Given the description of an element on the screen output the (x, y) to click on. 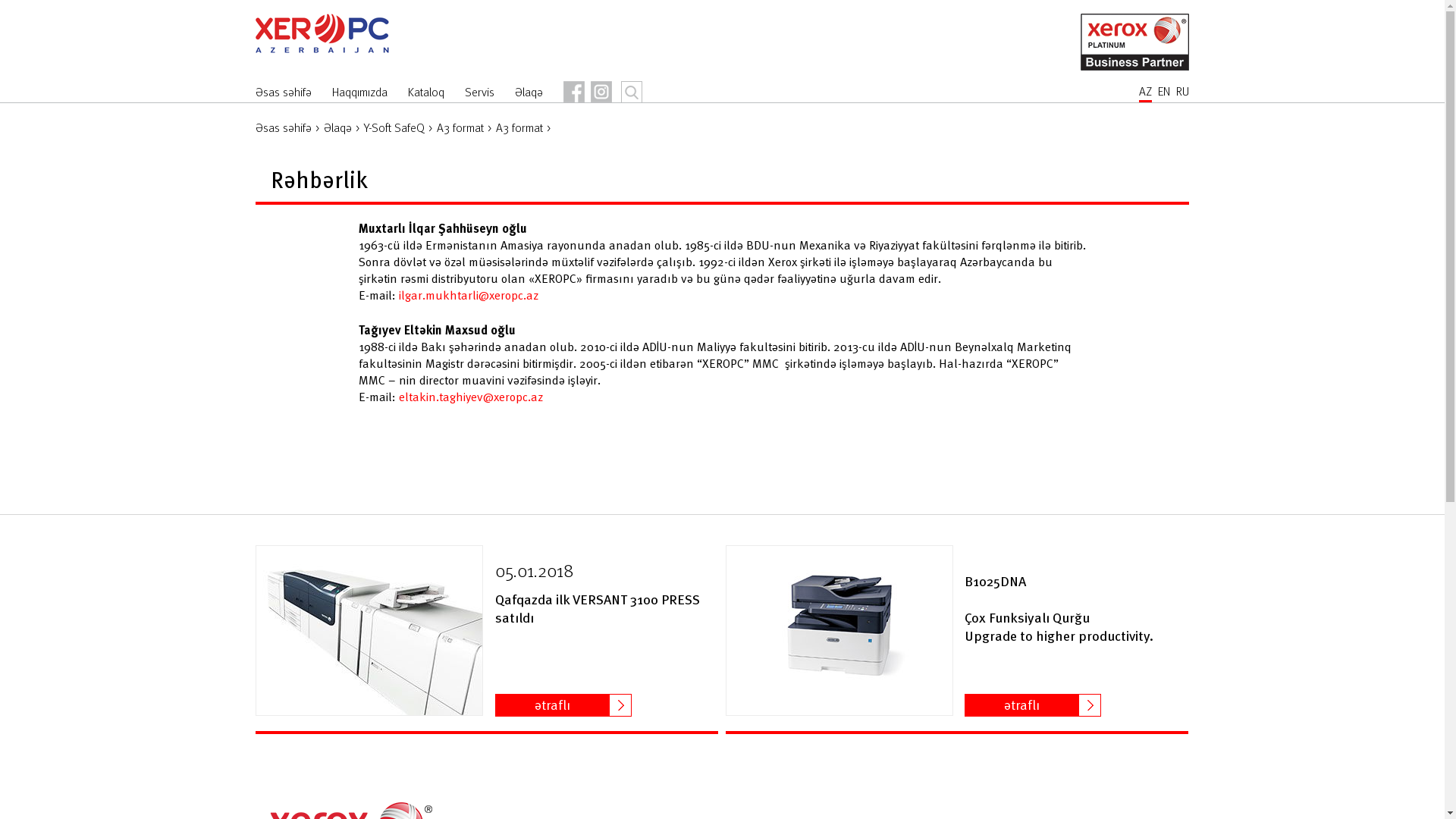
Premier Partner Element type: hover (1134, 41)
RU Element type: text (1182, 92)
Instagram Element type: hover (600, 91)
ilgar.mukhtarli@xeropc.az Element type: text (468, 294)
A3 format Element type: text (518, 127)
EN Element type: text (1163, 92)
Kataloq Element type: text (425, 92)
Y-Soft SafeQ Element type: text (394, 127)
Facebook Element type: hover (573, 91)
eltakin.taghiyev@xeropc.az Element type: text (470, 396)
A3 format Element type: text (459, 127)
Servis Element type: text (479, 92)
